Given the description of an element on the screen output the (x, y) to click on. 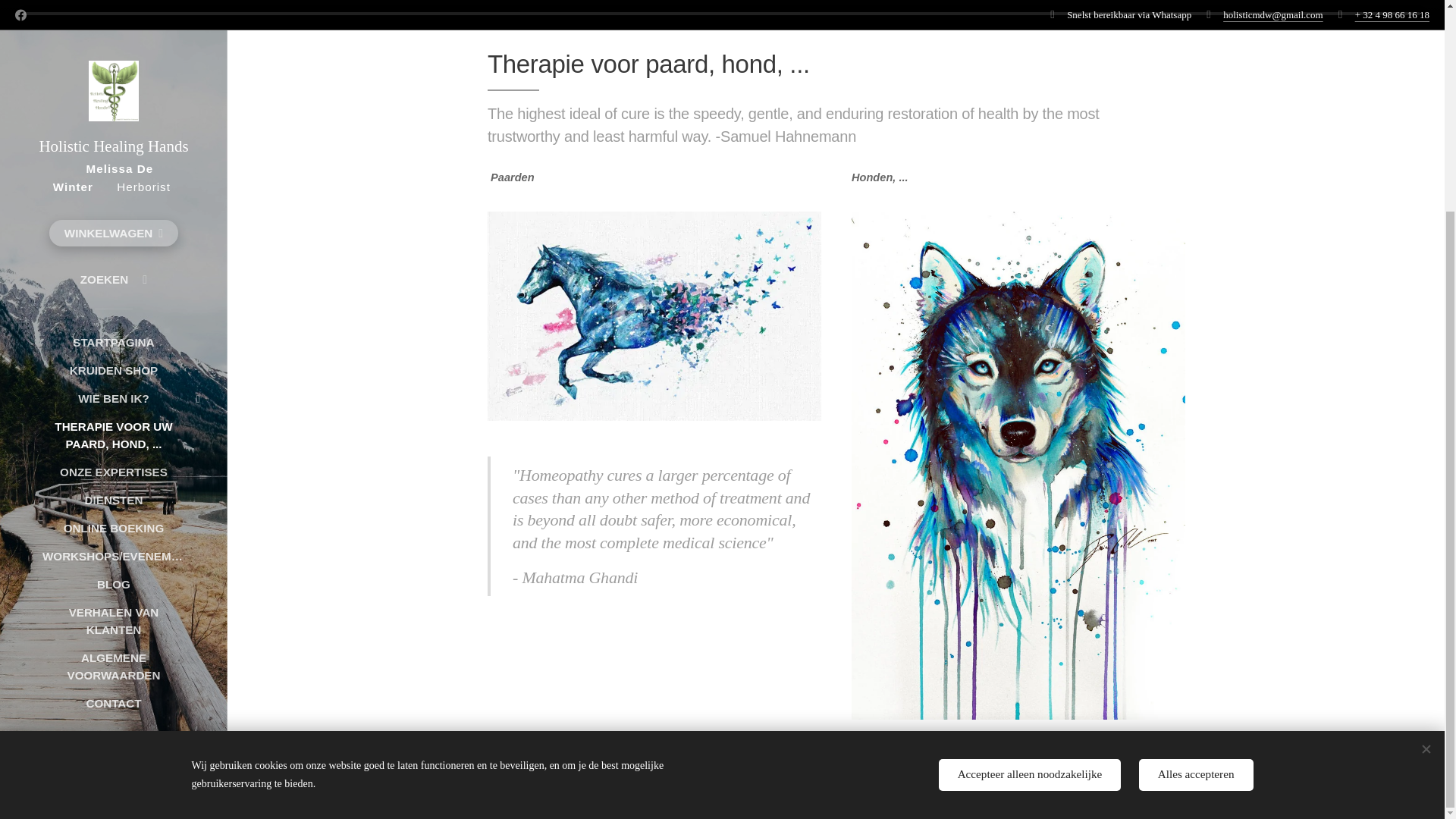
Cookies (114, 521)
VERHALEN VAN KLANTEN (113, 346)
Alles accepteren (1195, 499)
STARTPAGINA (113, 67)
DIENSTEN (113, 225)
ONZE EXPERTISES (113, 197)
ONLINE BOEKING (113, 253)
BLOG (113, 309)
CONTACT (113, 428)
THERAPIE VOOR UW PAARD, HOND, ... (113, 160)
Accepteer alleen noodzakelijke (1030, 499)
WIE BEN IK? (113, 123)
ALGEMENE VOORWAARDEN (113, 391)
KRUIDEN SHOP (113, 95)
